Given the description of an element on the screen output the (x, y) to click on. 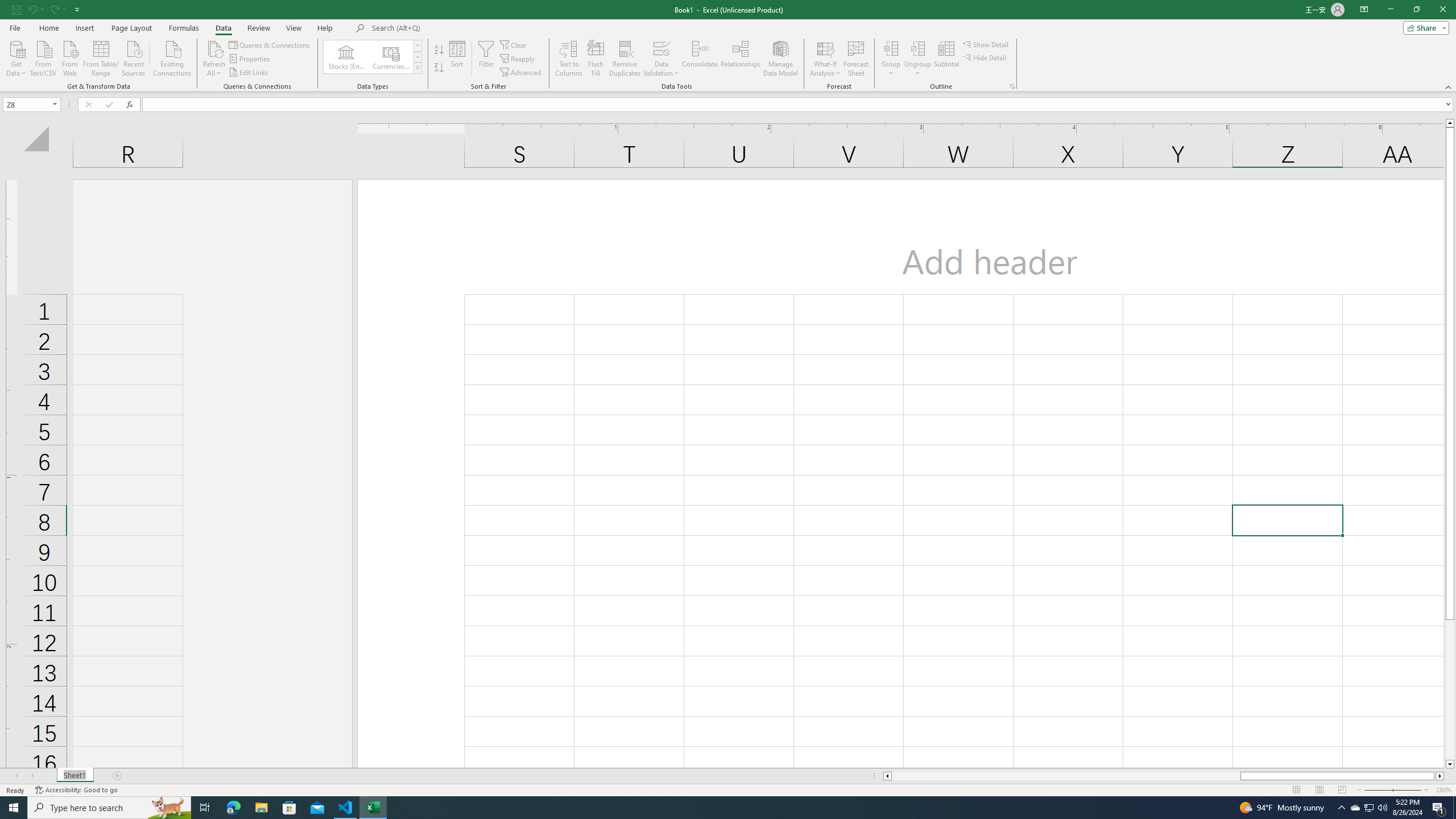
Minimize (1390, 9)
Group... (890, 58)
Line down (1449, 764)
Queries & Connections (270, 44)
Review (258, 28)
